Given the description of an element on the screen output the (x, y) to click on. 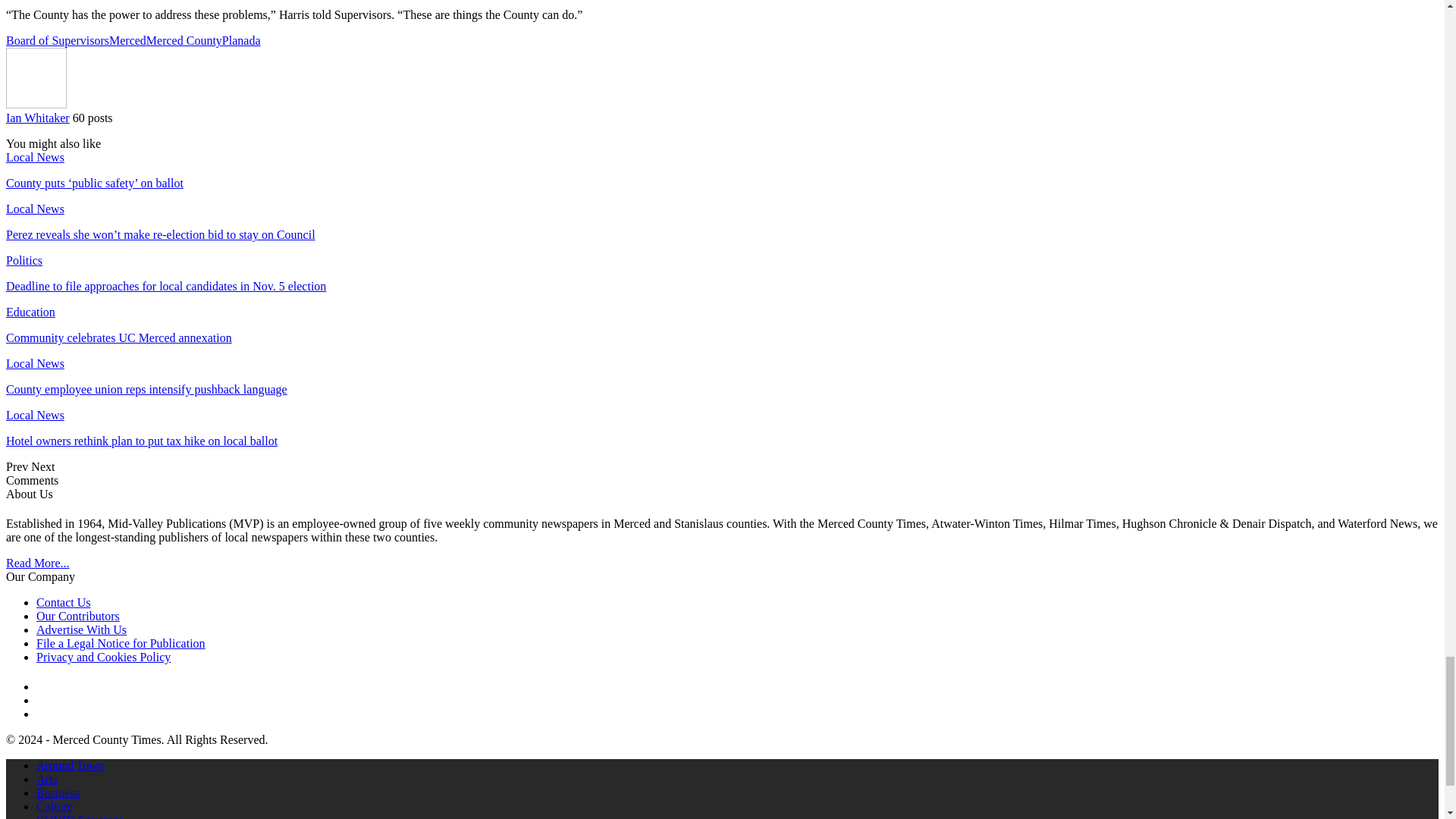
Browse Author Articles (35, 103)
